Given the description of an element on the screen output the (x, y) to click on. 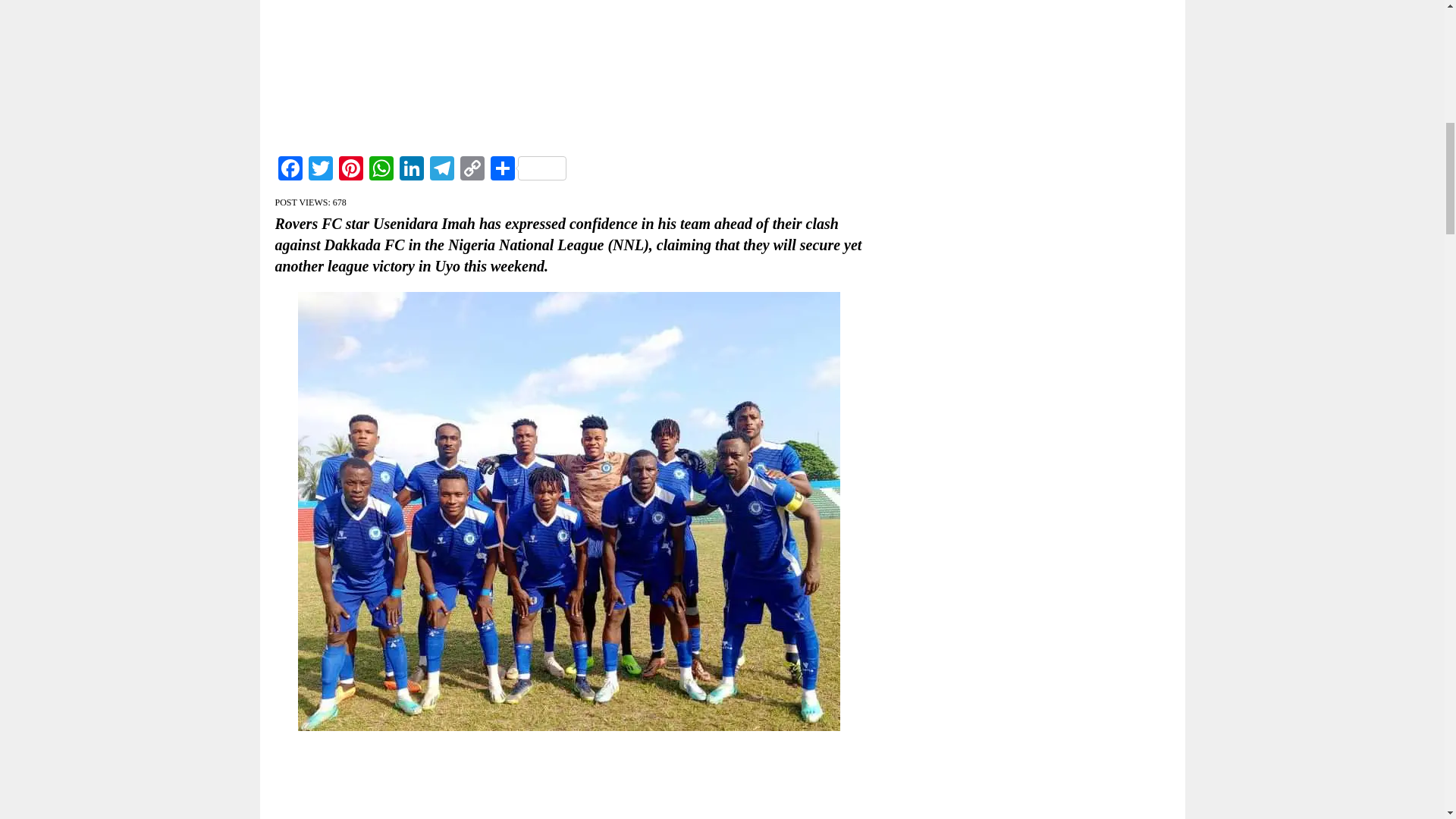
Pinterest (349, 170)
WhatsApp (380, 170)
Copy Link (471, 170)
LinkedIn (411, 170)
Telegram (441, 170)
Twitter (319, 170)
Facebook (289, 170)
